Given the description of an element on the screen output the (x, y) to click on. 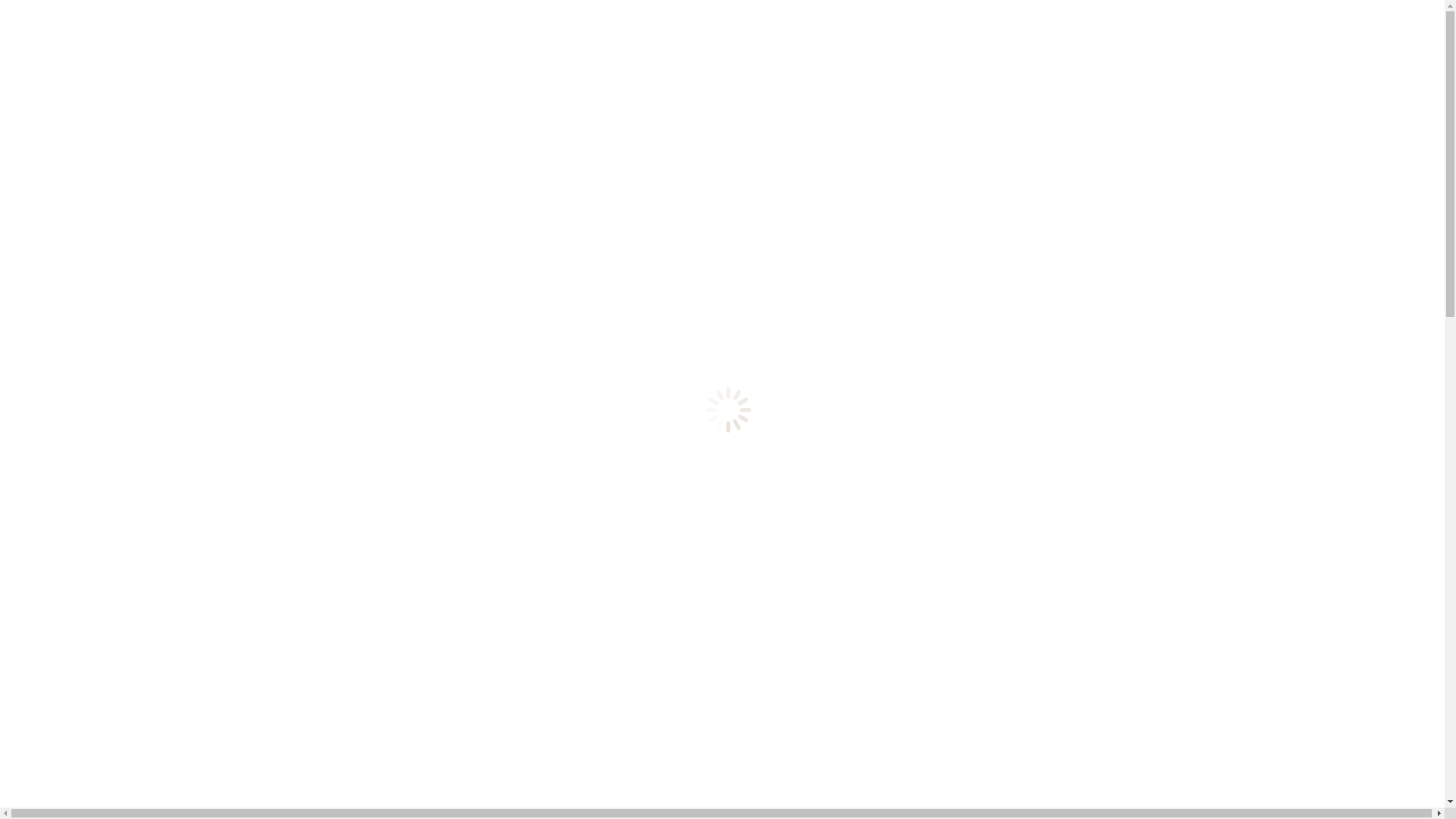
Skip to content Element type: text (5, 5)
Facebook Element type: text (24, 222)
Clinical Supervision Element type: text (116, 430)
SERVICES Element type: text (64, 787)
RESOURCES Element type: text (78, 528)
Go! Element type: text (20, 57)
BLOG Element type: text (60, 500)
FAQs Element type: text (57, 514)
Family Counselling Element type: text (114, 403)
HOME Element type: text (61, 309)
Individual Relationship Counselling Element type: text (154, 376)
Individual Counselling and Psychotherapy Element type: text (169, 800)
Relationship and Marriage Counselling Element type: text (161, 362)
BOOK AN APPOINTMENT Element type: text (77, 235)
Anxiety Counselling Element type: text (116, 348)
TEAM Element type: text (60, 446)
SERVICES Element type: text (71, 323)
Go! Element type: text (20, 663)
About Malvika Element type: text (103, 485)
0404 032 636 Element type: text (394, 12)
About Karen Element type: text (97, 471)
About Kylie Element type: text (96, 457)
0404 032 636 Element type: text (51, 195)
CONTACT US Element type: text (80, 541)
0404 032 636 Element type: text (51, 592)
Blended and Step Family Counselling Element type: text (158, 417)
BOOK AN APPOINTMENT Element type: text (77, 617)
Go! Element type: text (20, 281)
Linkedin Element type: text (12, 222)
Individual Counselling and Psychotherapy Element type: text (169, 335)
HOME Element type: text (54, 773)
Premarital Counselling Element type: text (122, 389)
